Given the description of an element on the screen output the (x, y) to click on. 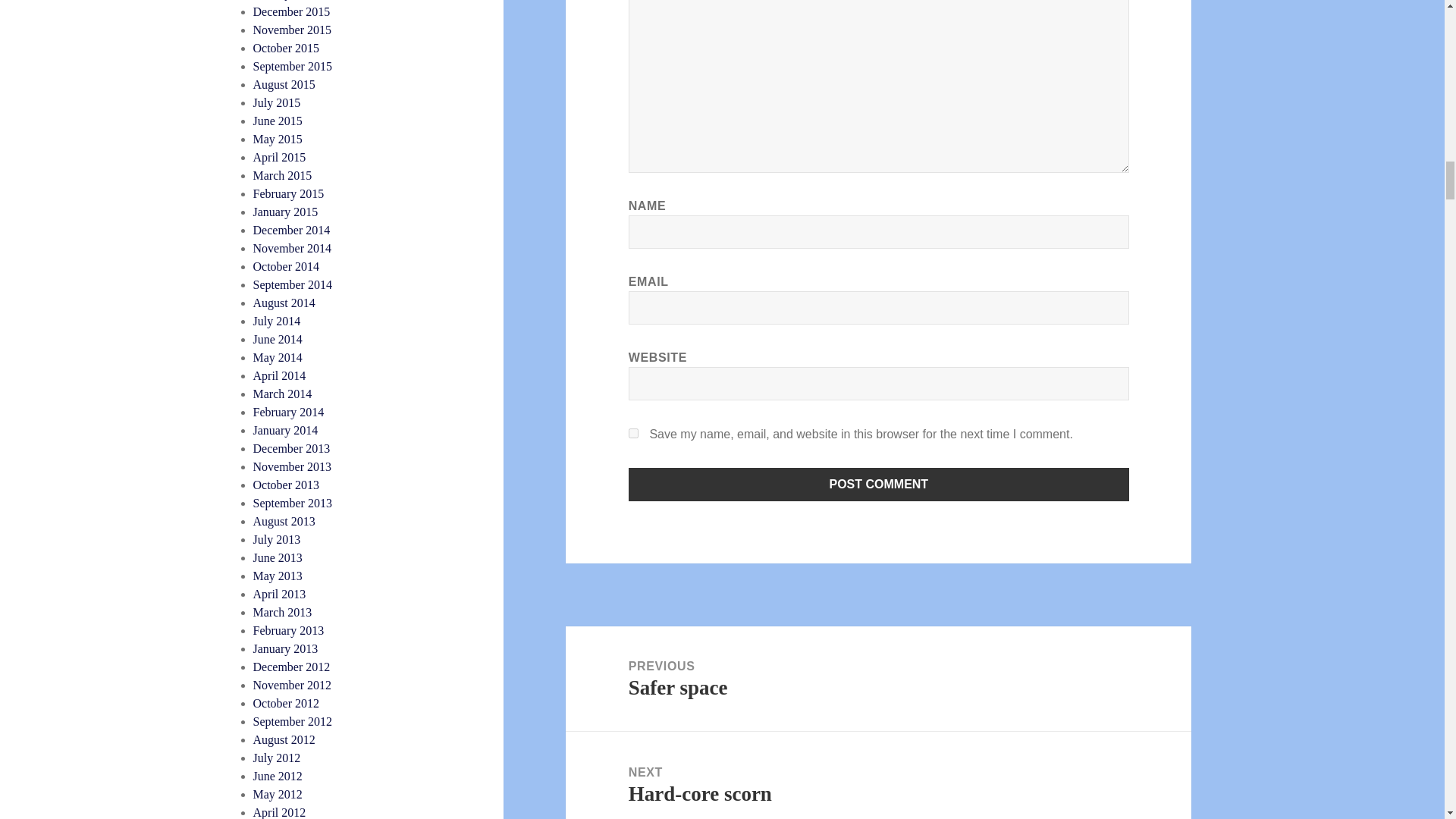
Post Comment (878, 484)
yes (633, 433)
